Given the description of an element on the screen output the (x, y) to click on. 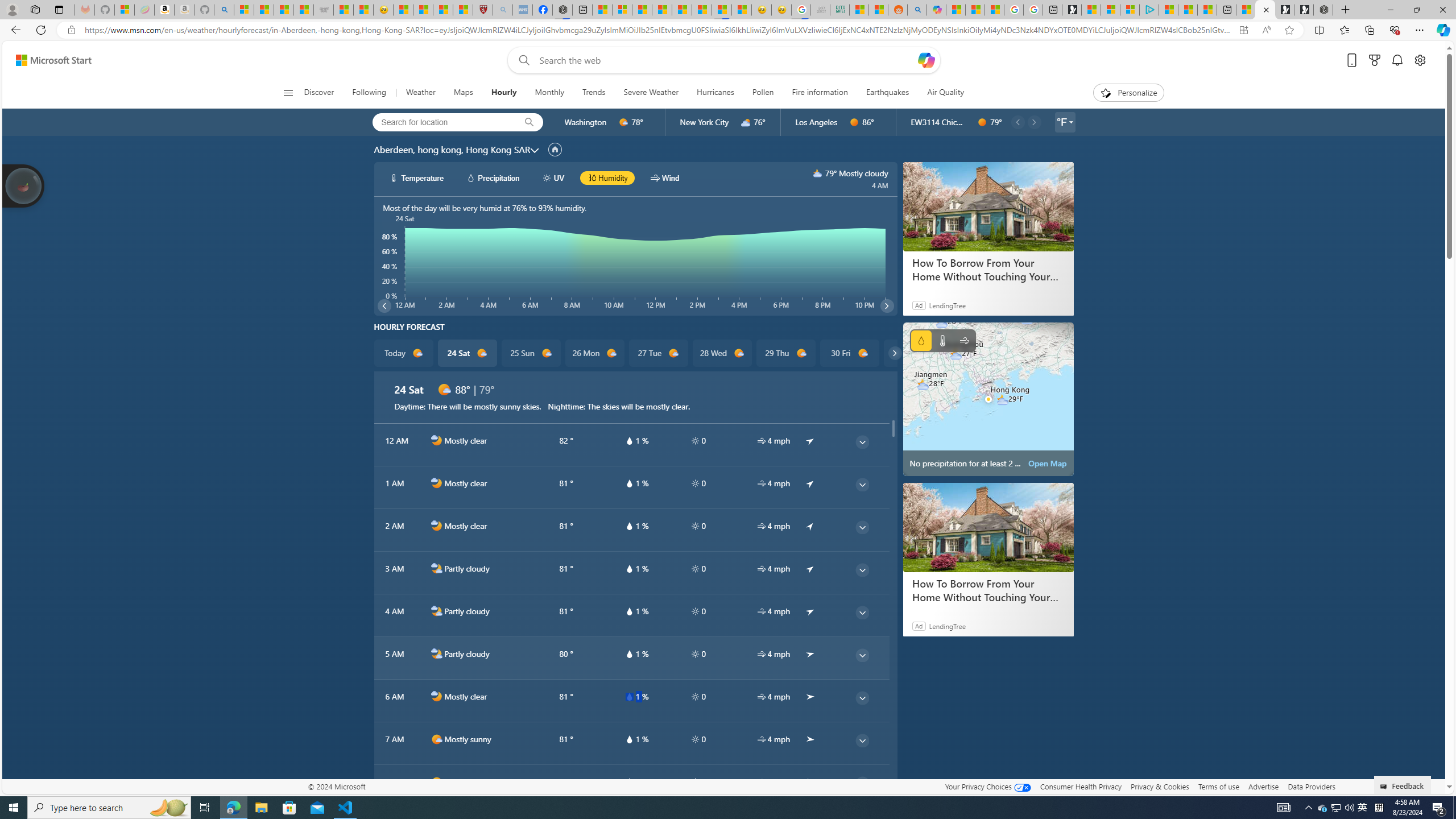
Trends (593, 92)
common/arrow (810, 782)
Search for location (440, 122)
Hurricanes (715, 92)
hourlyChart/windWhite (655, 177)
28 Wed d1000 (721, 352)
